Given the description of an element on the screen output the (x, y) to click on. 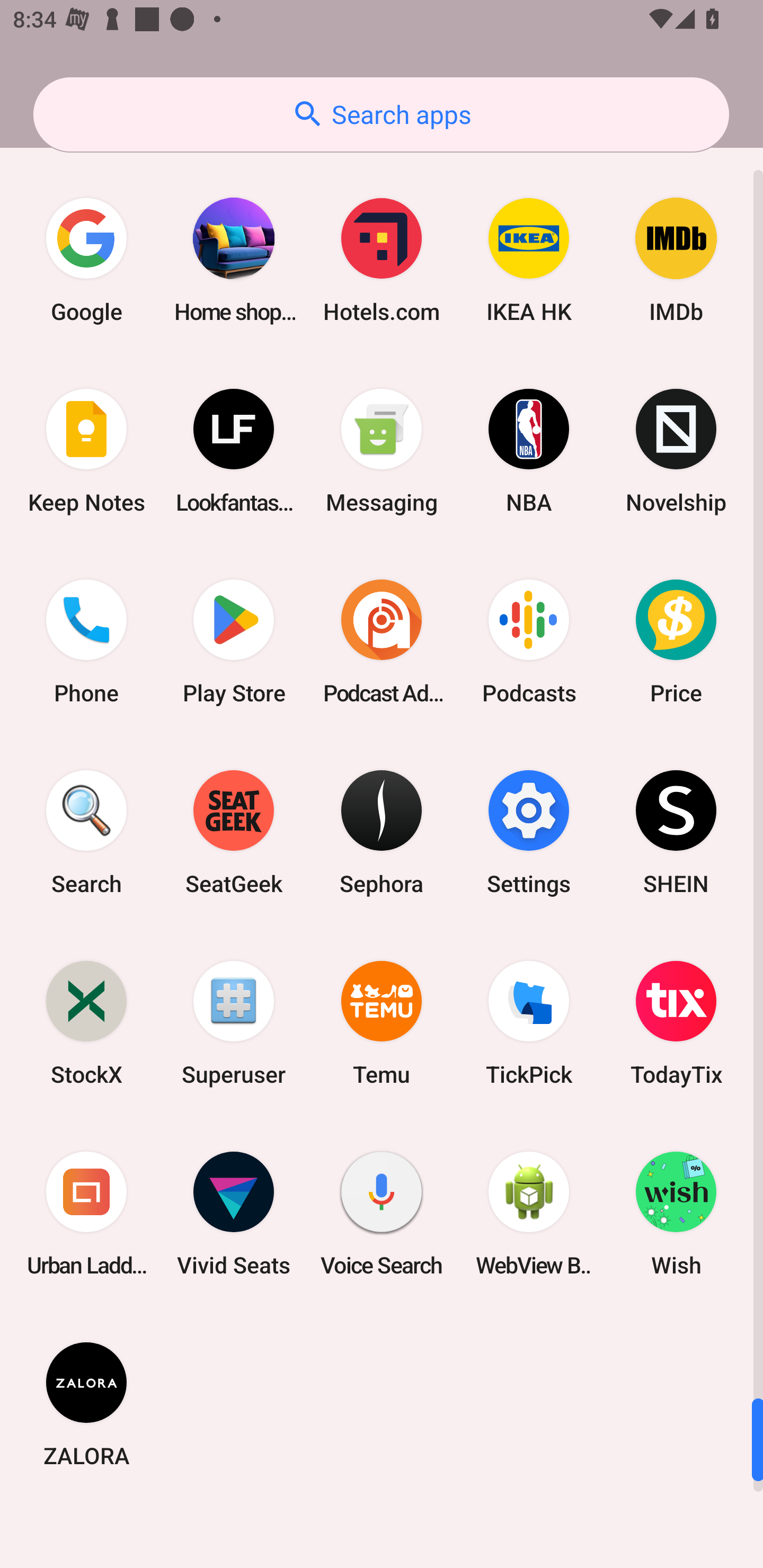
  Search apps (381, 114)
Google (86, 259)
Home shopping (233, 259)
Hotels.com (381, 259)
IKEA HK (528, 259)
IMDb (676, 259)
Keep Notes (86, 450)
Lookfantastic (233, 450)
Messaging (381, 450)
NBA (528, 450)
Novelship (676, 450)
Phone (86, 640)
Play Store (233, 640)
Podcast Addict (381, 640)
Podcasts (528, 640)
Price (676, 640)
Search (86, 832)
SeatGeek (233, 832)
Sephora (381, 832)
Settings (528, 832)
SHEIN (676, 832)
StockX (86, 1022)
Superuser (233, 1022)
Temu (381, 1022)
TickPick (528, 1022)
TodayTix (676, 1022)
Urban Ladder (86, 1213)
Vivid Seats (233, 1213)
Voice Search (381, 1213)
WebView Browser Tester (528, 1213)
Wish (676, 1213)
ZALORA (86, 1404)
